Given the description of an element on the screen output the (x, y) to click on. 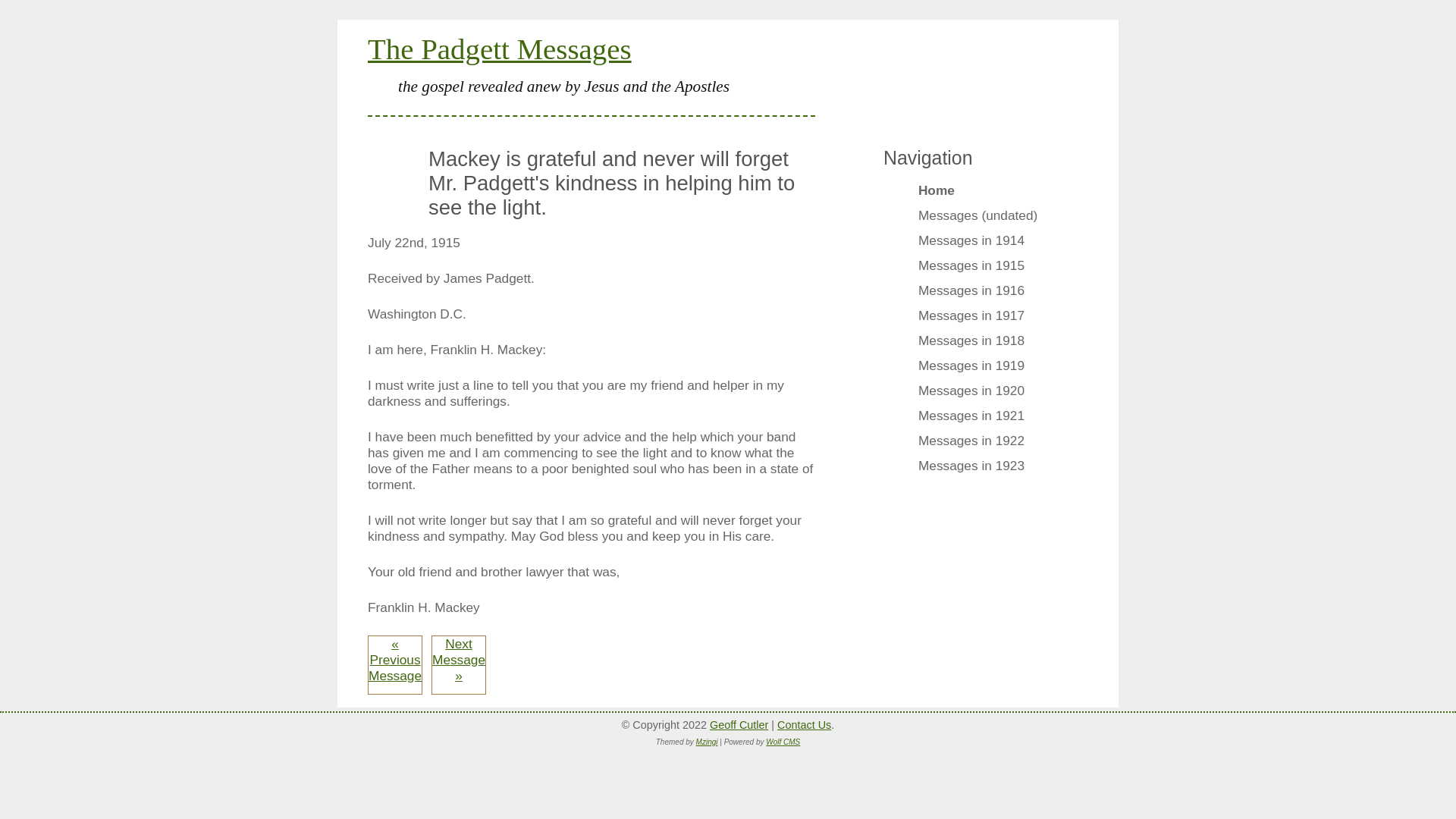
Wolf (739, 725)
Messages in 1916 (978, 292)
Messages in 1915 (978, 267)
Contact Us: (804, 725)
Messages in 1917 (978, 317)
Messages in 1918 (978, 342)
Messages in 1920 (978, 392)
Geoff Cutler (739, 725)
Messages in 1914 (978, 242)
Contact Us (804, 725)
